Given the description of an element on the screen output the (x, y) to click on. 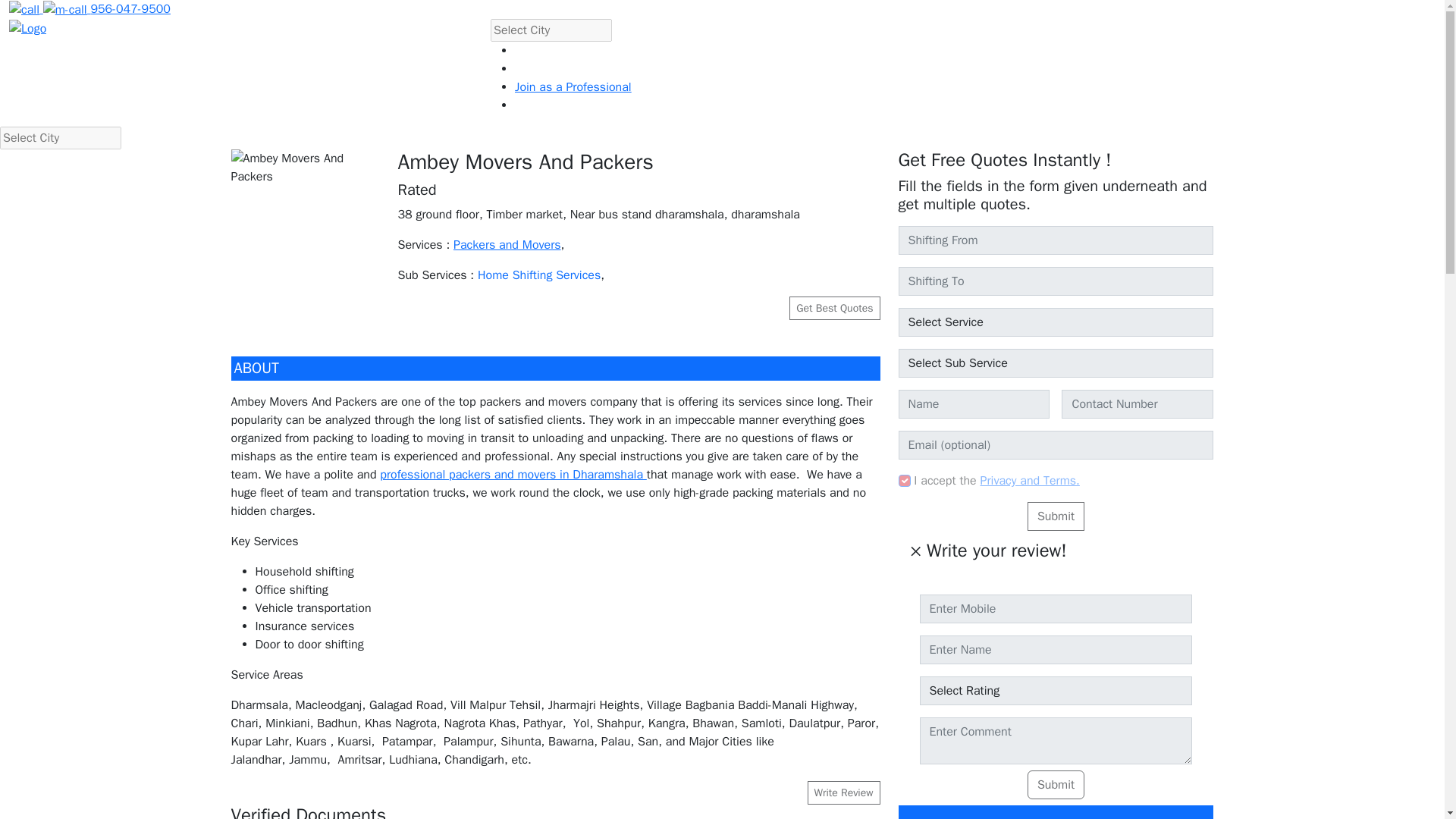
Get Best Quotes (834, 308)
956-047-9500 (89, 8)
Get Quotes (545, 68)
Privacy and Terms. (1055, 679)
Submit (1029, 480)
Join as a Professional (1055, 516)
Write Review (573, 87)
on (842, 792)
Home Shifting Services (904, 480)
